Given the description of an element on the screen output the (x, y) to click on. 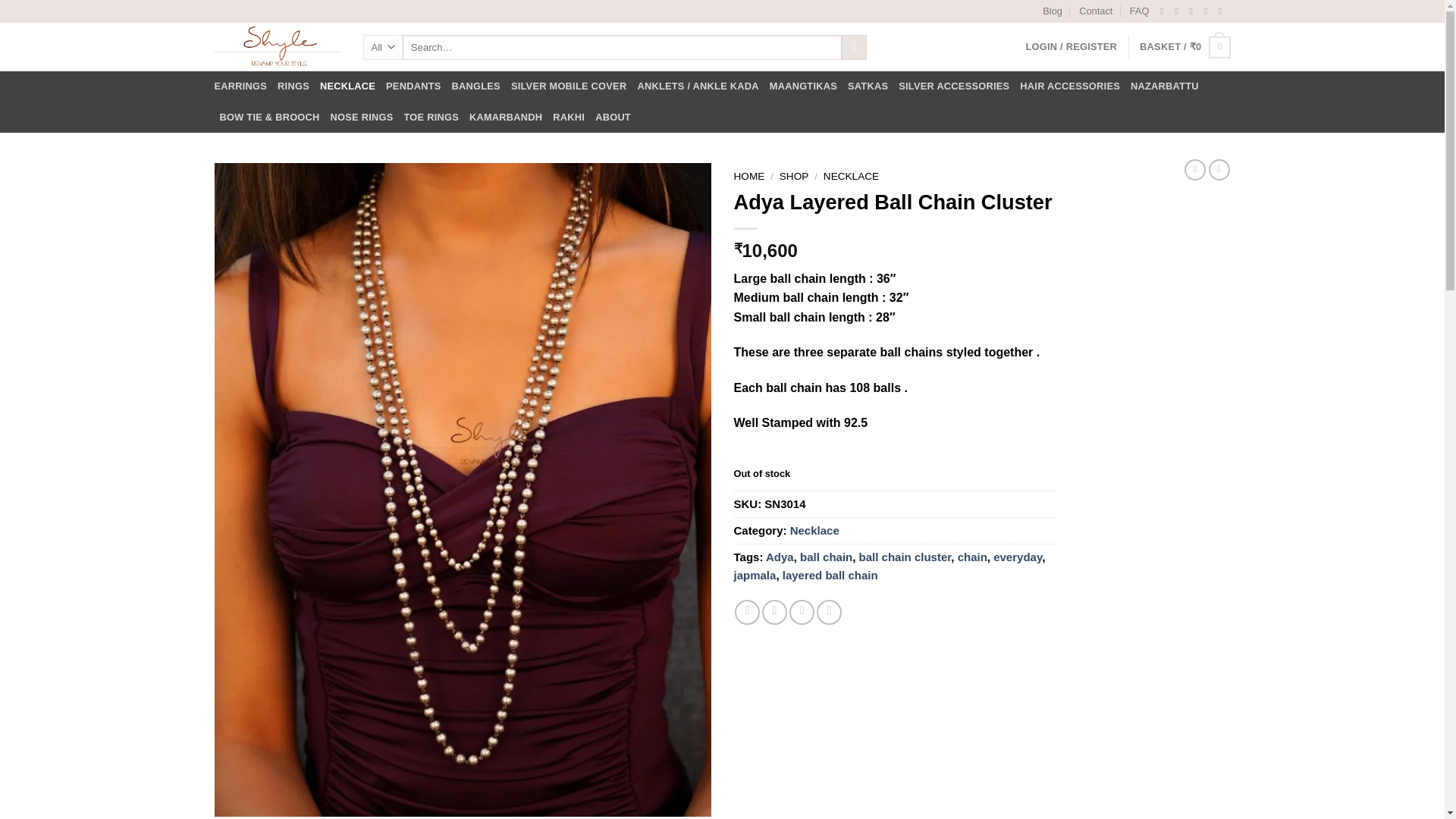
ABOUT (612, 117)
KAMARBANDH (504, 117)
Share on Facebook (747, 611)
HAIR ACCESSORIES (1069, 86)
MAANGTIKAS (803, 86)
Search (853, 47)
SATKAS (867, 86)
EARRINGS (240, 86)
PENDANTS (413, 86)
NECKLACE (347, 86)
SILVER ACCESSORIES (953, 86)
SILVER MOBILE COVER (569, 86)
Contact (1095, 11)
Shyle - An Online Jaipur Silver Jewelry Shopping Hub (276, 46)
RINGS (293, 86)
